Given the description of an element on the screen output the (x, y) to click on. 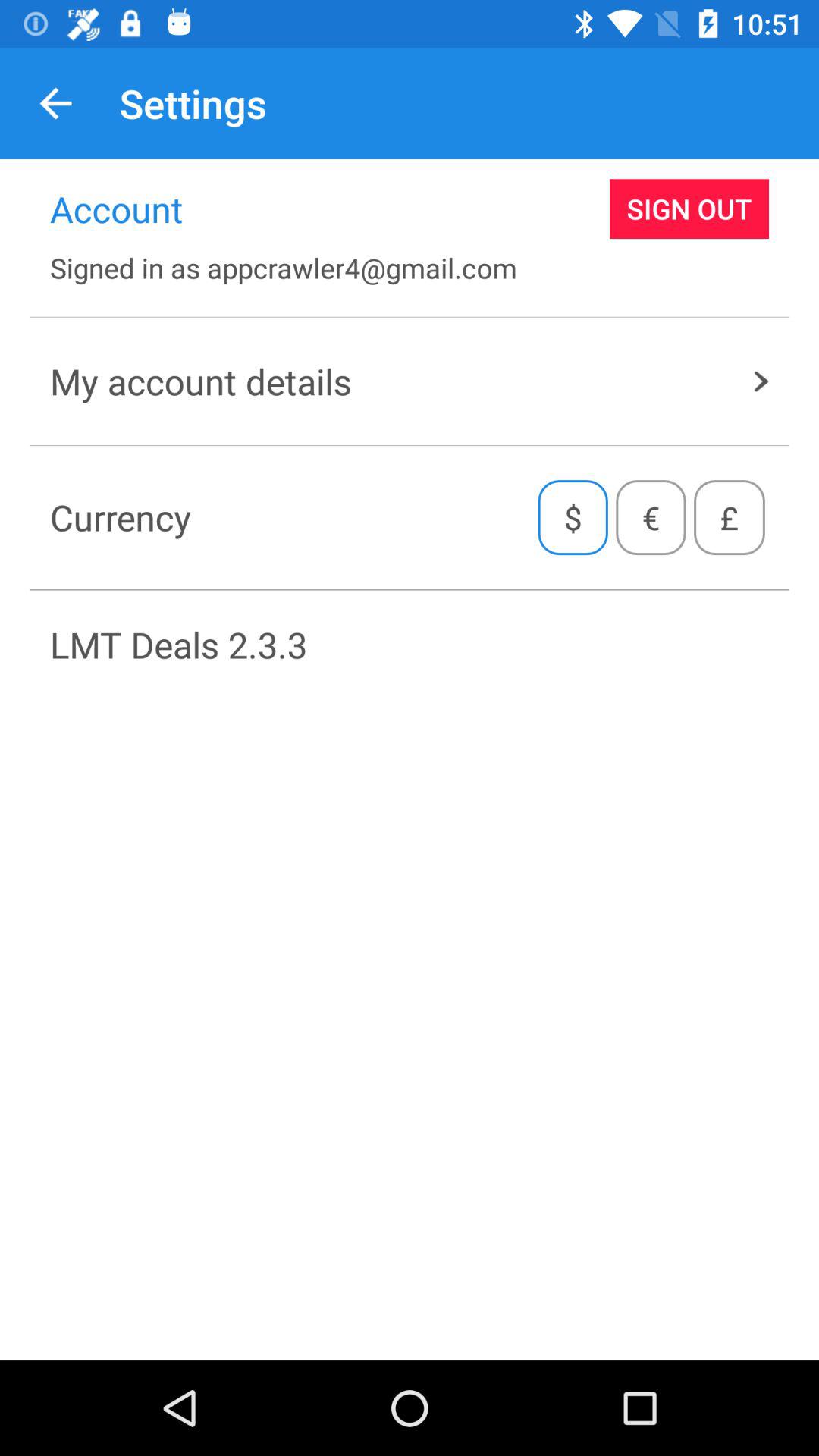
select my account details item (409, 381)
